Given the description of an element on the screen output the (x, y) to click on. 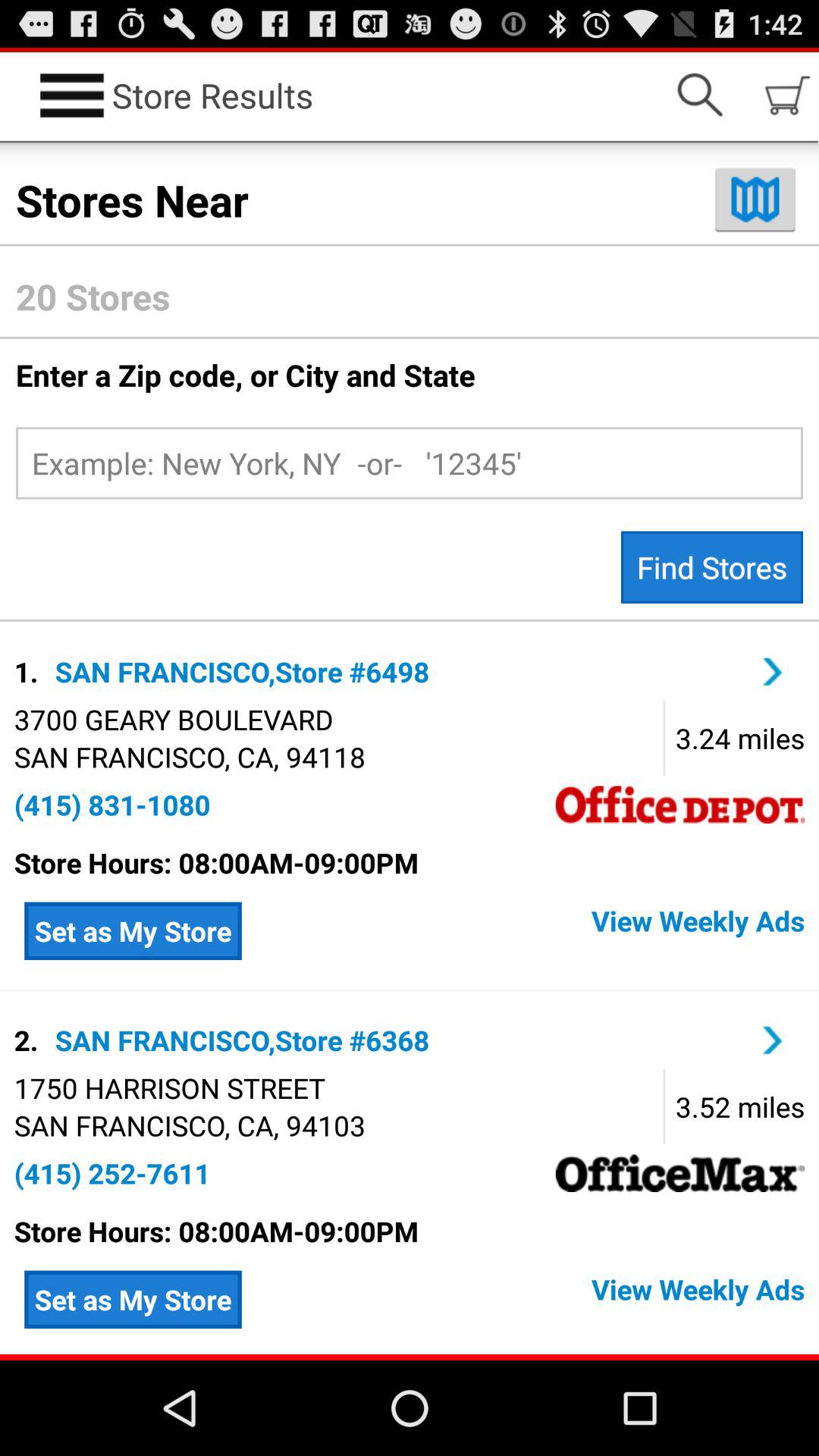
select 1.  icon (29, 671)
